Given the description of an element on the screen output the (x, y) to click on. 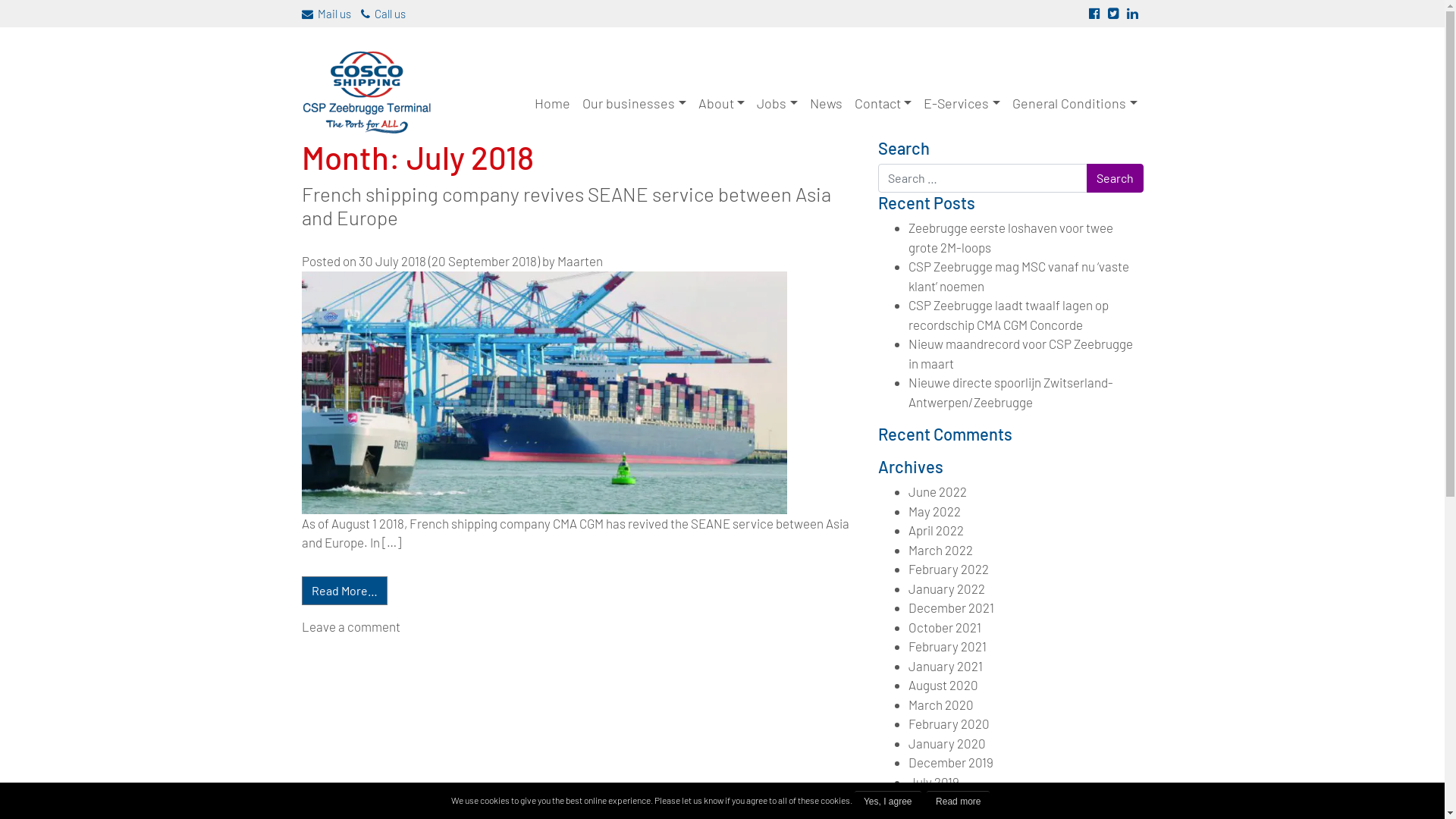
January 2021 Element type: text (945, 665)
August 2020 Element type: text (943, 684)
Nieuwe directe spoorlijn Zwitserland-Antwerpen/Zeebrugge Element type: text (1010, 391)
June 2022 Element type: text (937, 490)
Mail us Element type: text (326, 13)
January 2020 Element type: text (946, 742)
July 2019 Element type: text (933, 781)
December 2019 Element type: text (950, 761)
Zeebrugge eerste loshaven voor twee grote 2M-loops Element type: text (1010, 236)
March 2020 Element type: text (940, 704)
Our businesses Element type: text (634, 102)
Search Element type: text (1113, 177)
April 2022 Element type: text (935, 529)
Home Element type: text (552, 102)
About Element type: text (721, 102)
January 2022 Element type: text (946, 588)
Maarten Element type: text (579, 260)
February 2020 Element type: text (948, 723)
February 2022 Element type: text (948, 568)
October 2021 Element type: text (944, 626)
Nieuw maandrecord voor CSP Zeebrugge in maart Element type: text (1020, 352)
June 2019 Element type: text (935, 800)
Call us Element type: text (382, 13)
Contact Element type: text (883, 102)
E-Services Element type: text (961, 102)
Read more Element type: text (957, 801)
30 July 2018 (20 September 2018) Element type: text (449, 260)
General Conditions Element type: text (1074, 102)
News Element type: text (825, 102)
Jobs Element type: text (776, 102)
May 2022 Element type: text (934, 510)
February 2021 Element type: text (947, 645)
December 2021 Element type: text (951, 607)
March 2022 Element type: text (940, 549)
